Given the description of an element on the screen output the (x, y) to click on. 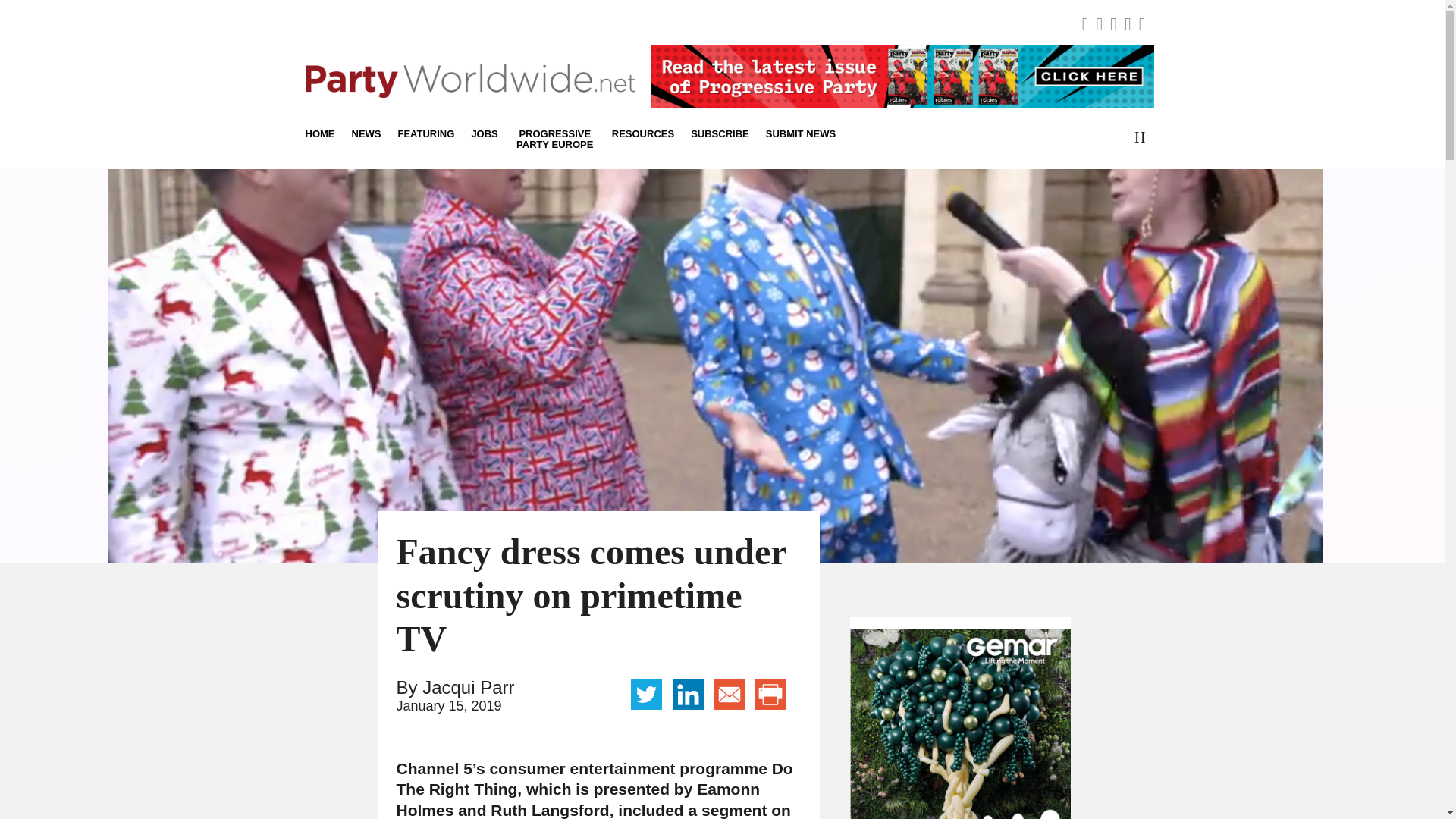
PROGRESSIVE PARTY EUROPE (555, 138)
NEWS (365, 133)
FEATURING (426, 133)
JOBS (484, 133)
HOME (323, 133)
